Given the description of an element on the screen output the (x, y) to click on. 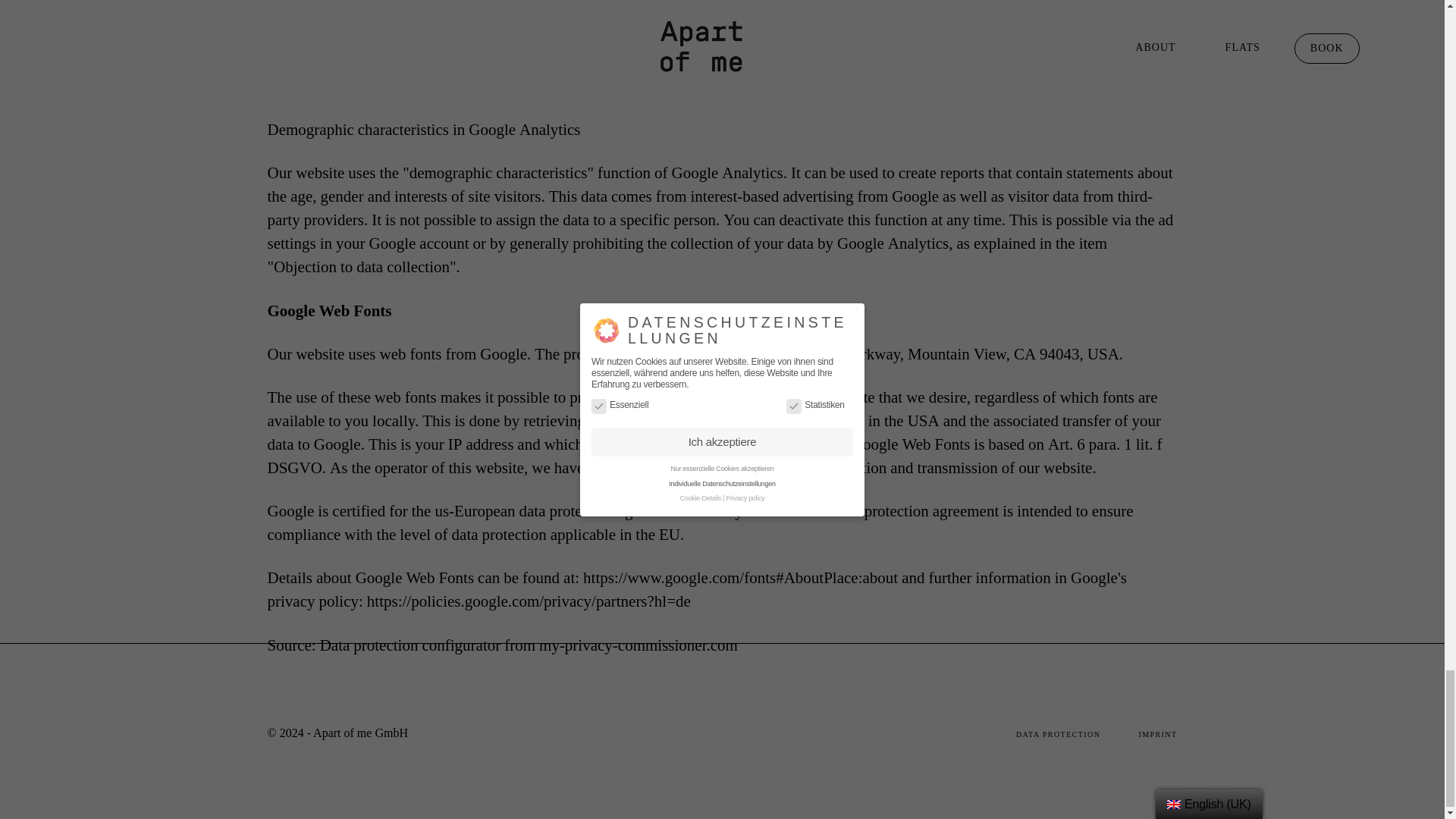
IMPRINT (1157, 732)
DATA PROTECTION (1077, 732)
- Apart of me GmbH (357, 732)
my-privacy-commissioner.com (638, 645)
